Given the description of an element on the screen output the (x, y) to click on. 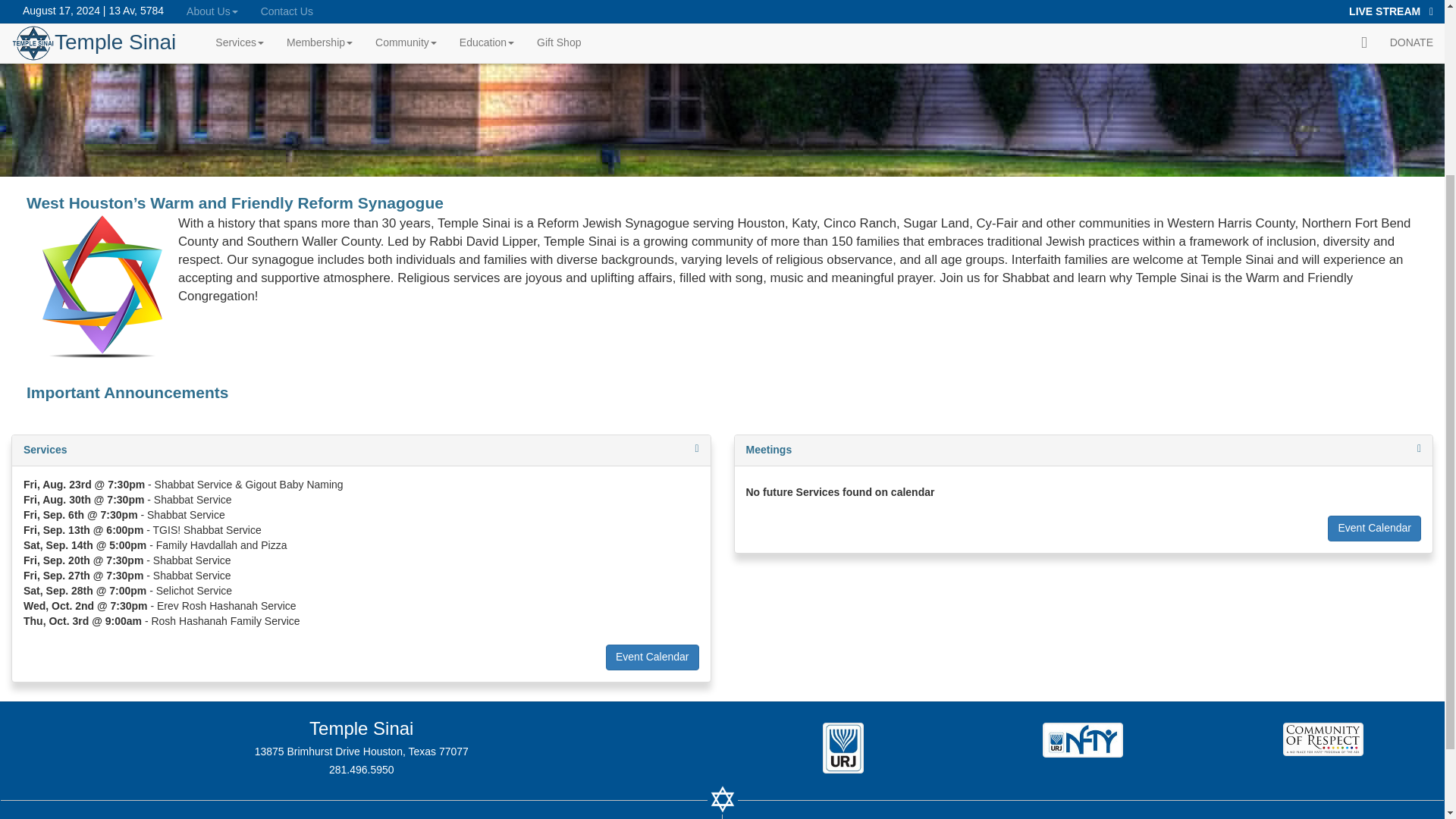
Event Calendar (651, 657)
281.496.5950 (361, 769)
ADL (1323, 738)
nfty (1083, 738)
URJ (842, 746)
Event Calendar (1374, 528)
